Given the description of an element on the screen output the (x, y) to click on. 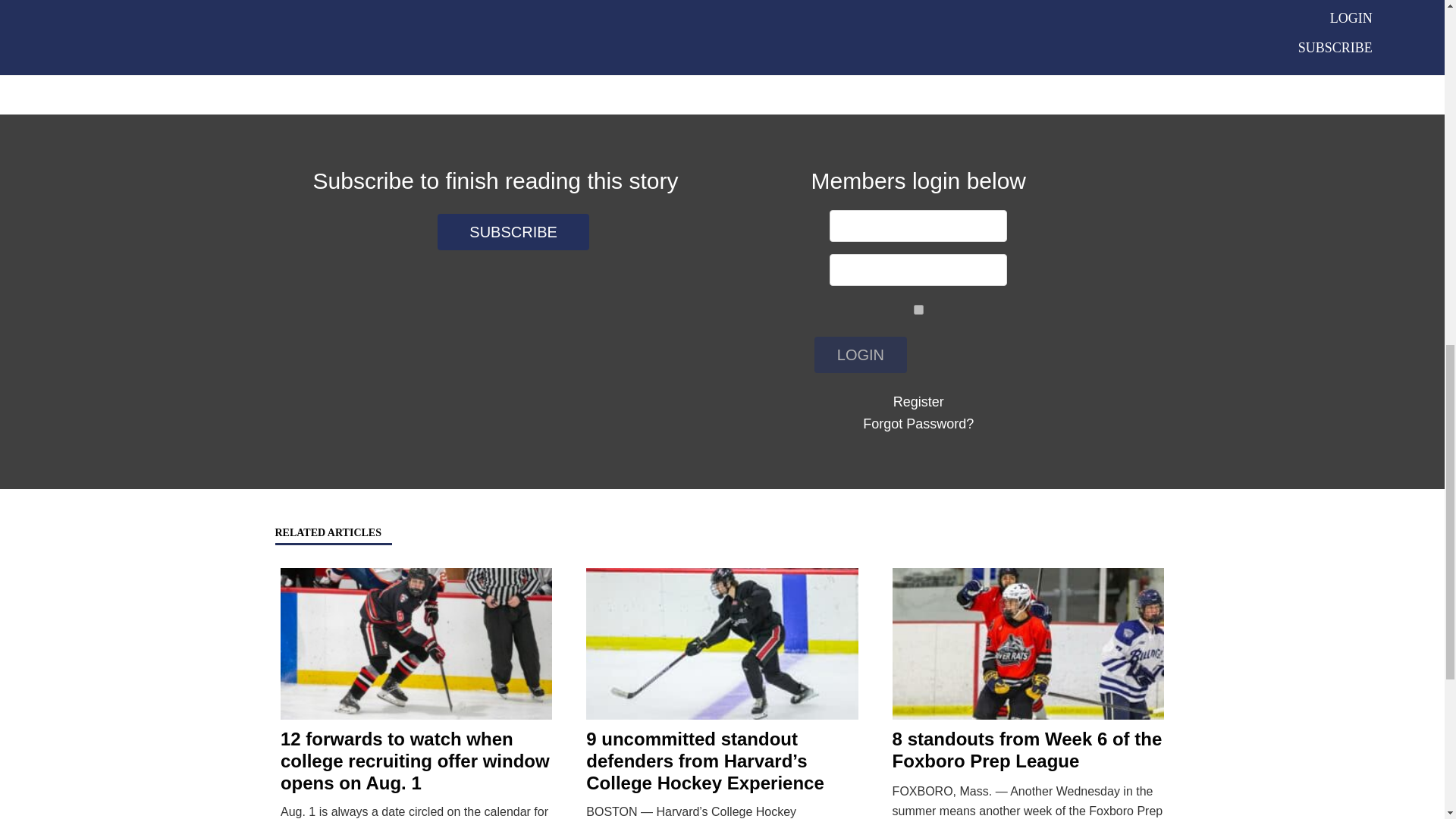
Boston Latin hockey (368, 31)
Forgot Password? (918, 423)
Register (918, 401)
Login (860, 354)
8 standouts from Week 6 of the Foxboro Prep League (1026, 749)
Winchester hockey (563, 51)
Forgot Password? (918, 423)
SUBSCRIBE (513, 231)
1 (918, 309)
Hanover hockey (671, 31)
Tewksbury hockey (448, 51)
Login (860, 354)
MIAA championships (904, 31)
Register (918, 401)
